Given the description of an element on the screen output the (x, y) to click on. 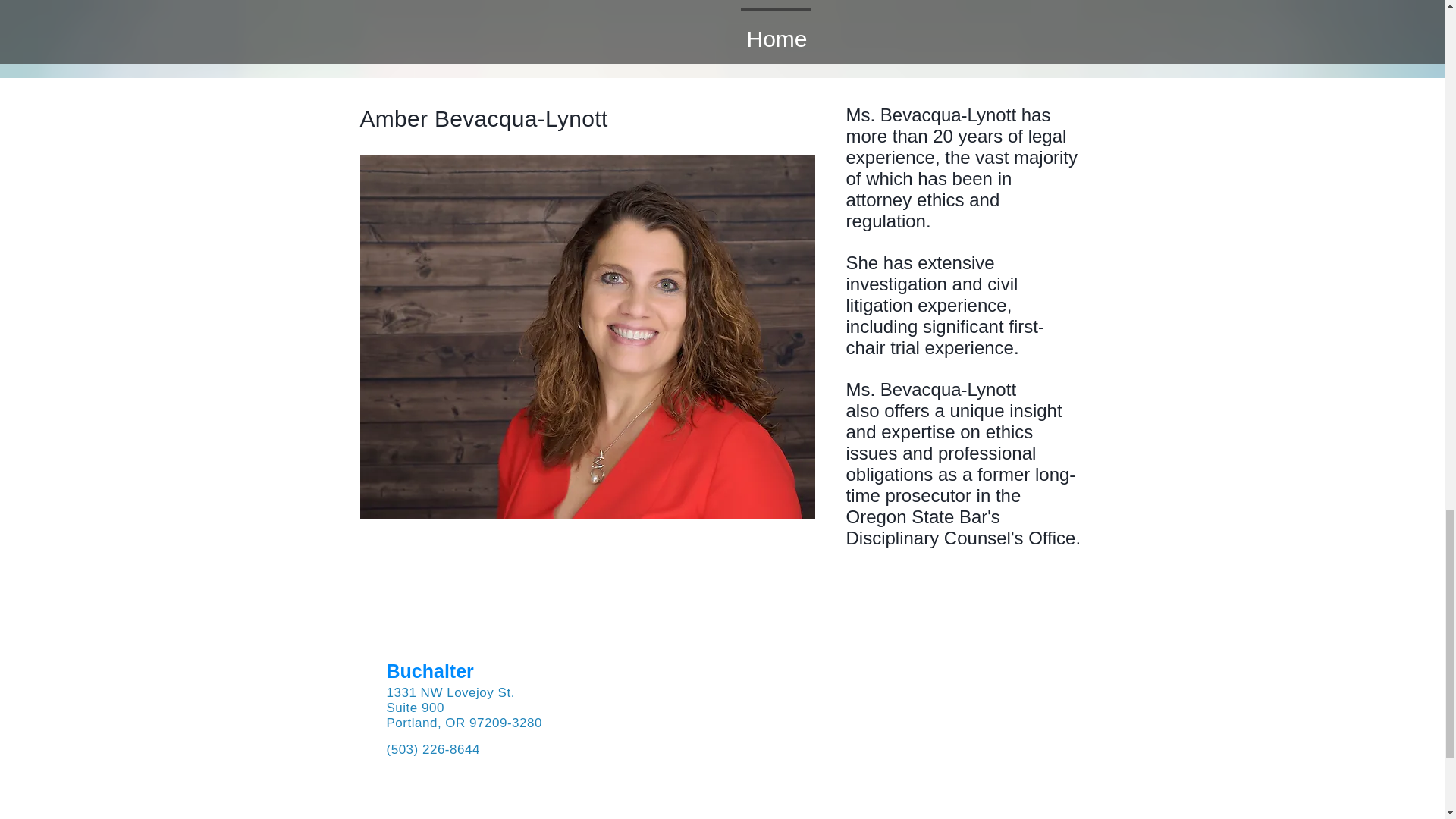
Buchalter (430, 670)
